Given the description of an element on the screen output the (x, y) to click on. 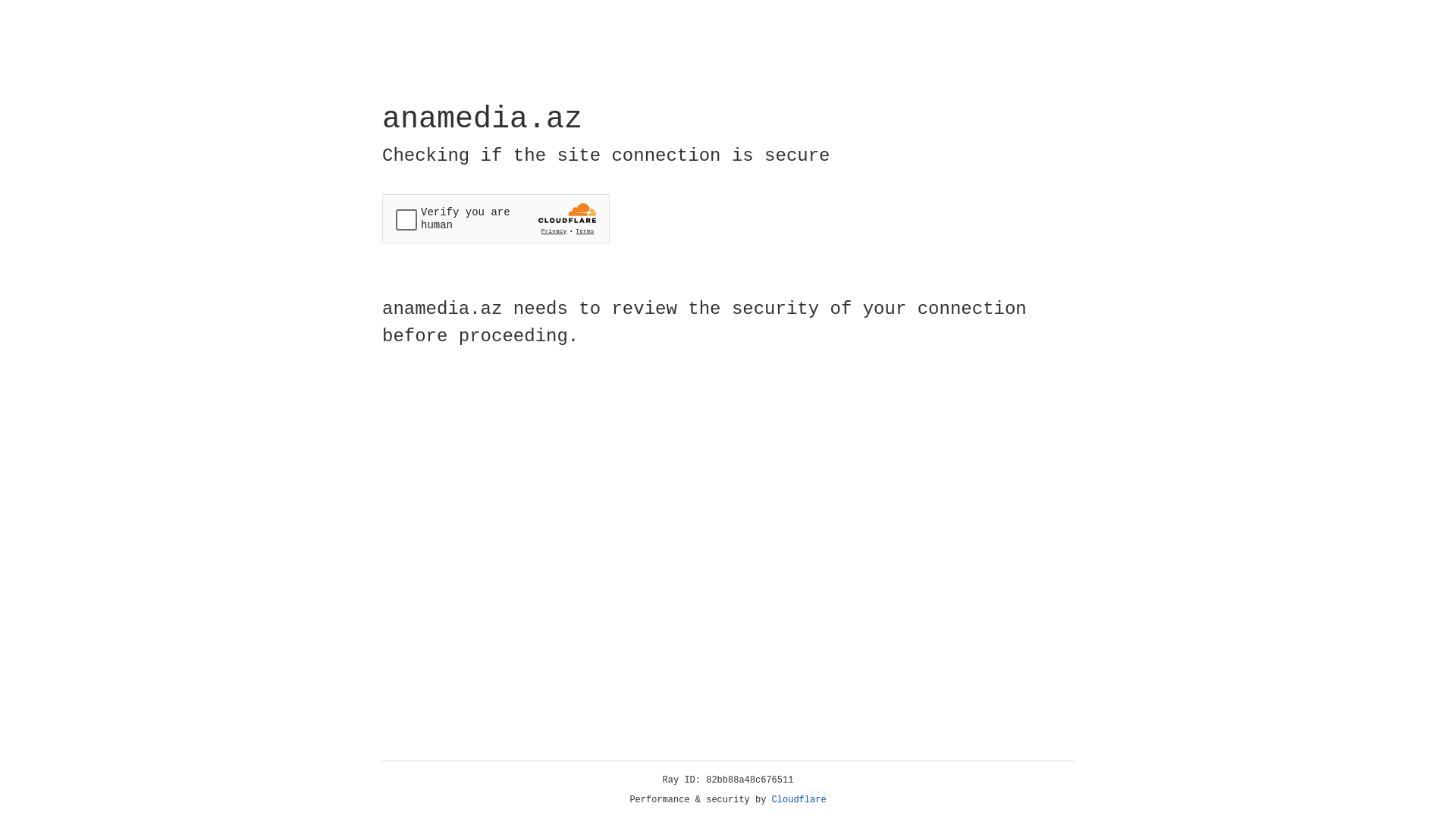
Widget containing a Cloudflare security challenge Element type: hover (495, 218)
Cloudflare Element type: text (798, 799)
